Given the description of an element on the screen output the (x, y) to click on. 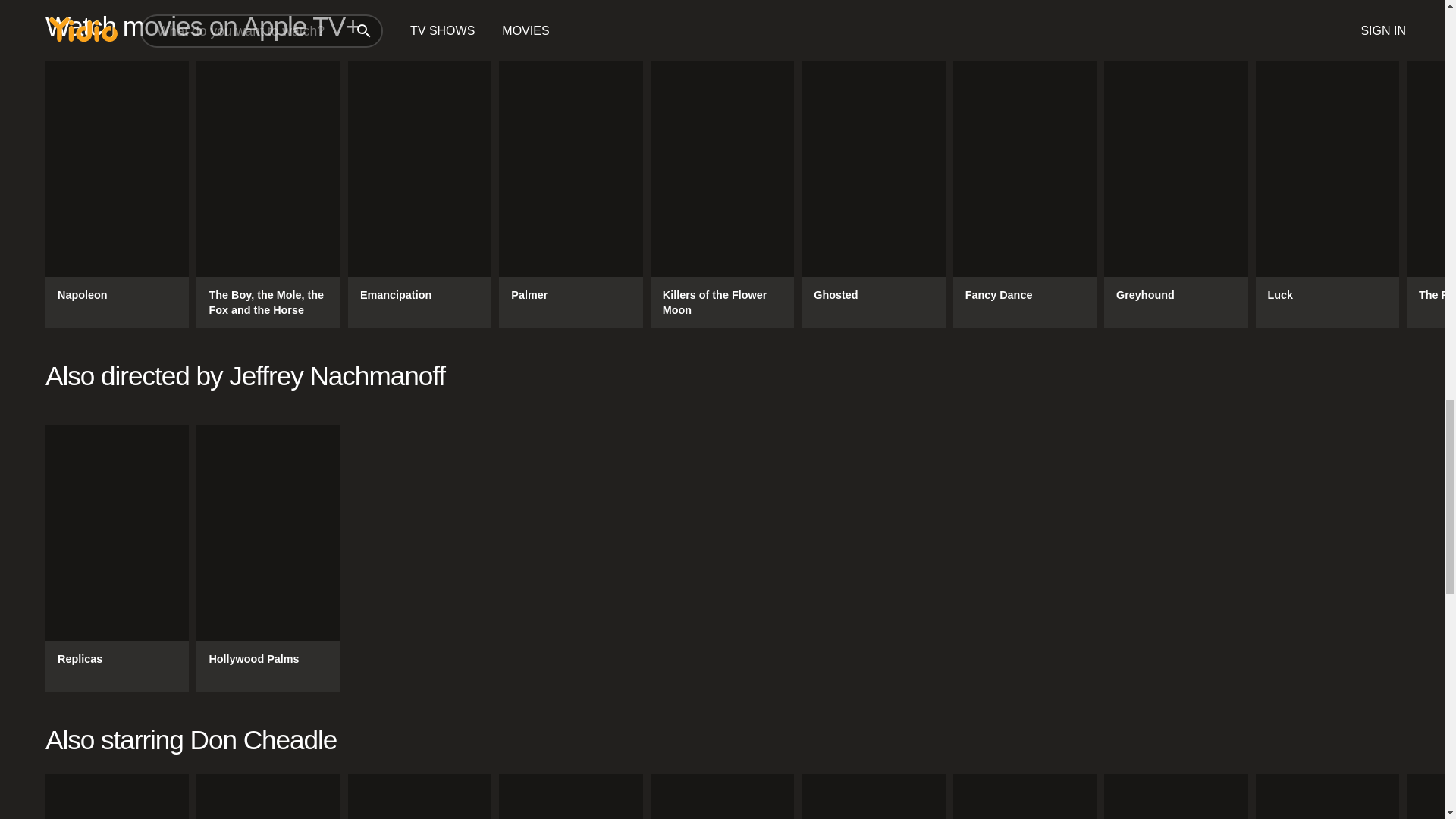
Darfur Now (117, 796)
Miles Ahead (721, 796)
Black Monday (570, 796)
Crash (267, 796)
House of Lies (419, 796)
